Given the description of an element on the screen output the (x, y) to click on. 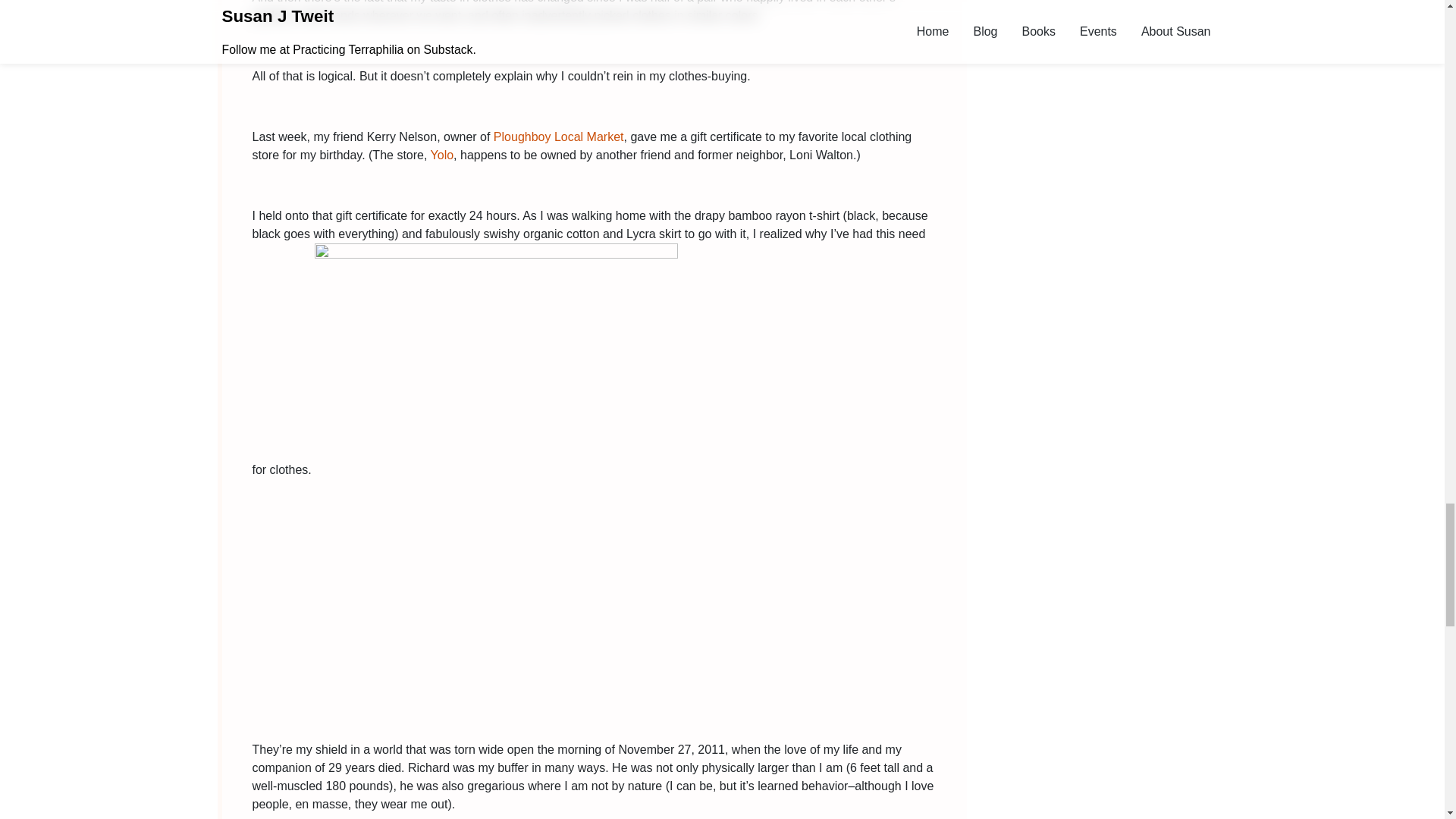
Ploughboy Local Market (558, 136)
Yolo (442, 154)
